Given the description of an element on the screen output the (x, y) to click on. 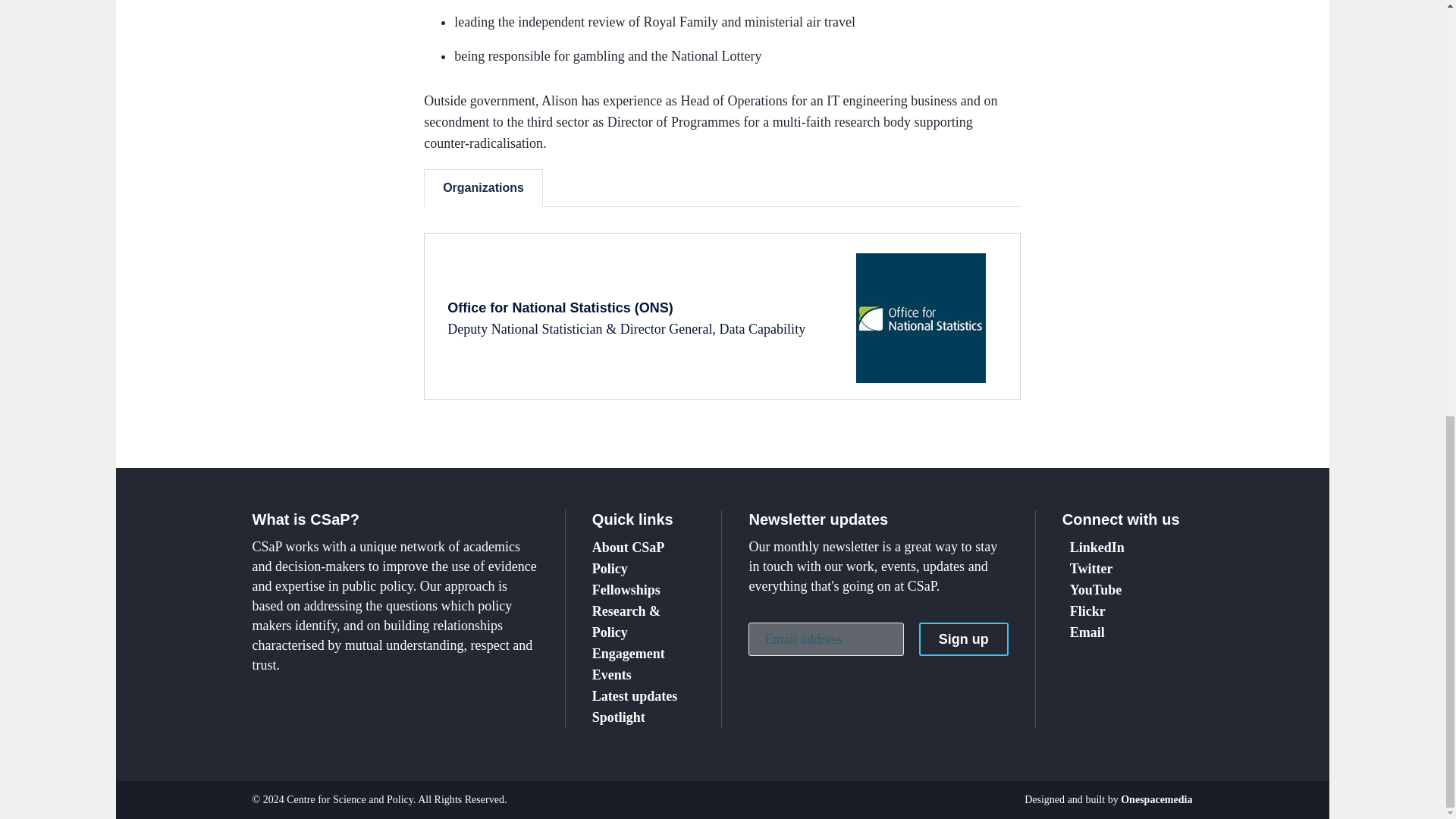
Sign up (963, 639)
